Given the description of an element on the screen output the (x, y) to click on. 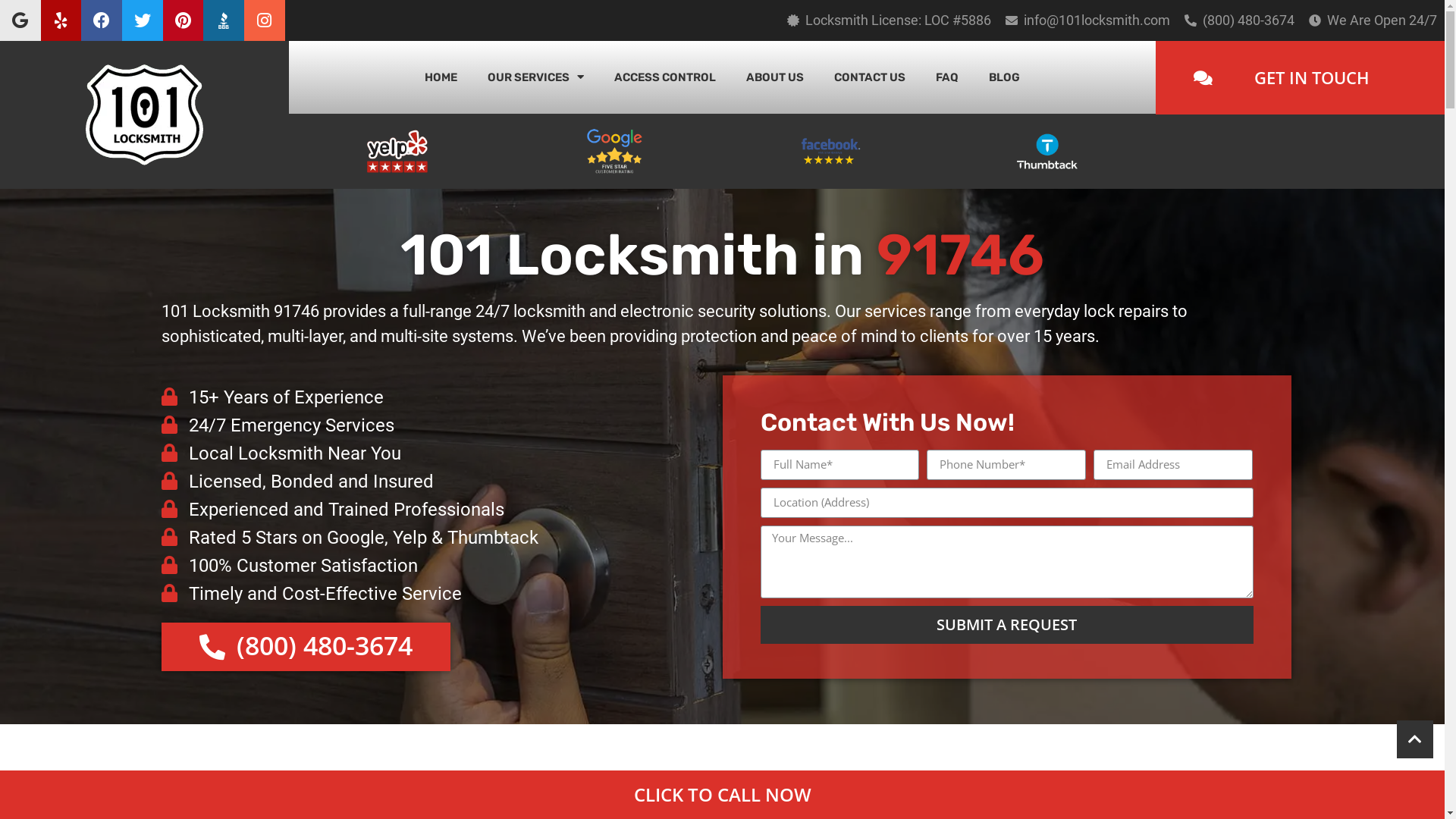
(800) 480-3674 Element type: text (1248, 20)
(800) 480-3674 Element type: text (304, 646)
BLOG Element type: text (1004, 76)
OUR SERVICES Element type: text (535, 76)
SUBMIT A REQUEST Element type: text (1005, 624)
info@101locksmith.com Element type: text (1096, 20)
GET IN TOUCH Element type: text (1299, 77)
FAQ Element type: text (946, 76)
ABOUT US Element type: text (775, 76)
ACCESS CONTROL Element type: text (665, 76)
HOME Element type: text (440, 76)
CONTACT US Element type: text (869, 76)
